Given the description of an element on the screen output the (x, y) to click on. 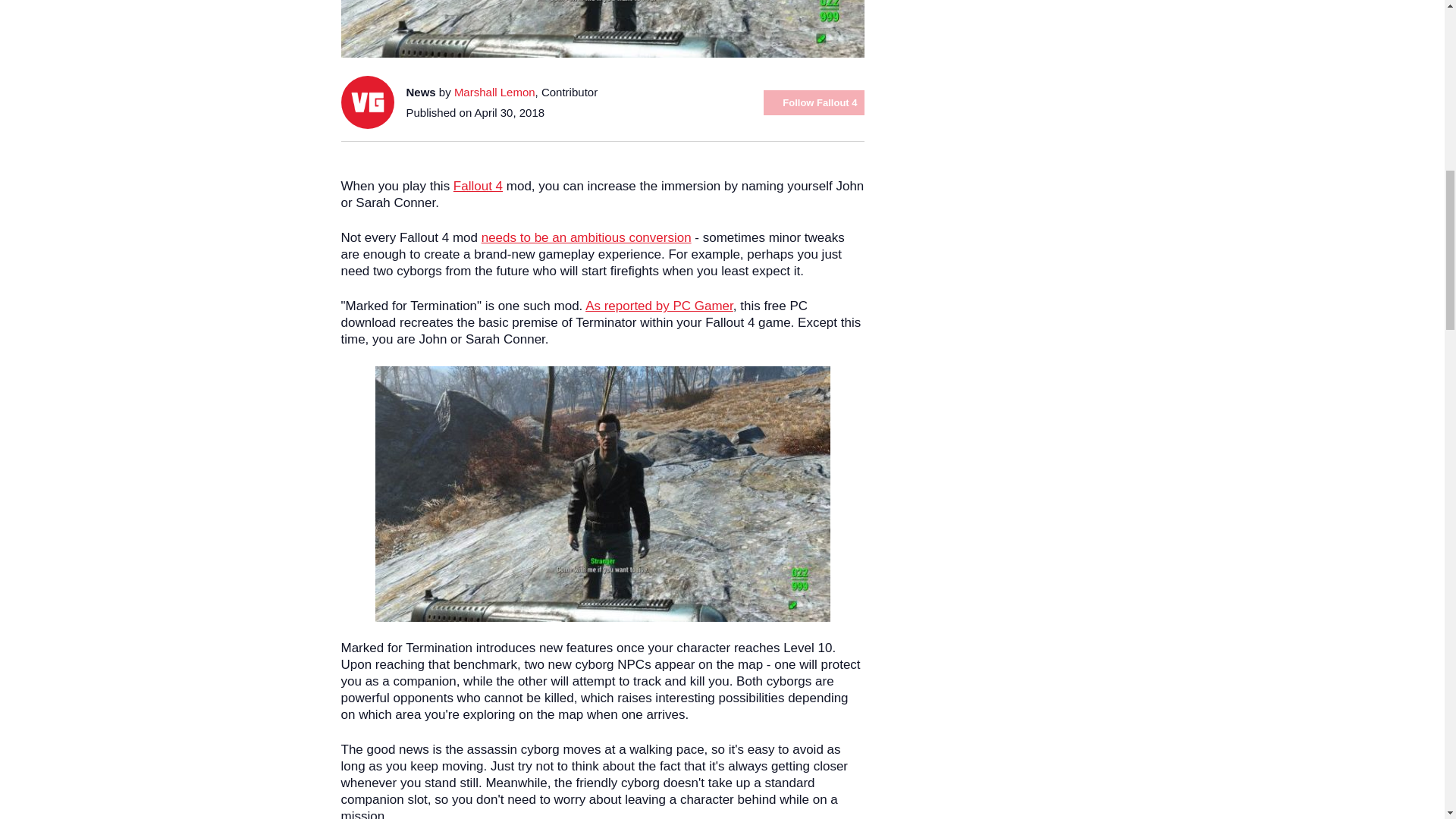
As reported by PC Gamer (659, 305)
needs to be an ambitious conversion (586, 237)
Fallout 4 (477, 186)
Marshall Lemon (494, 91)
Follow Fallout 4 (812, 102)
Follow Fallout 4 (812, 102)
